Given the description of an element on the screen output the (x, y) to click on. 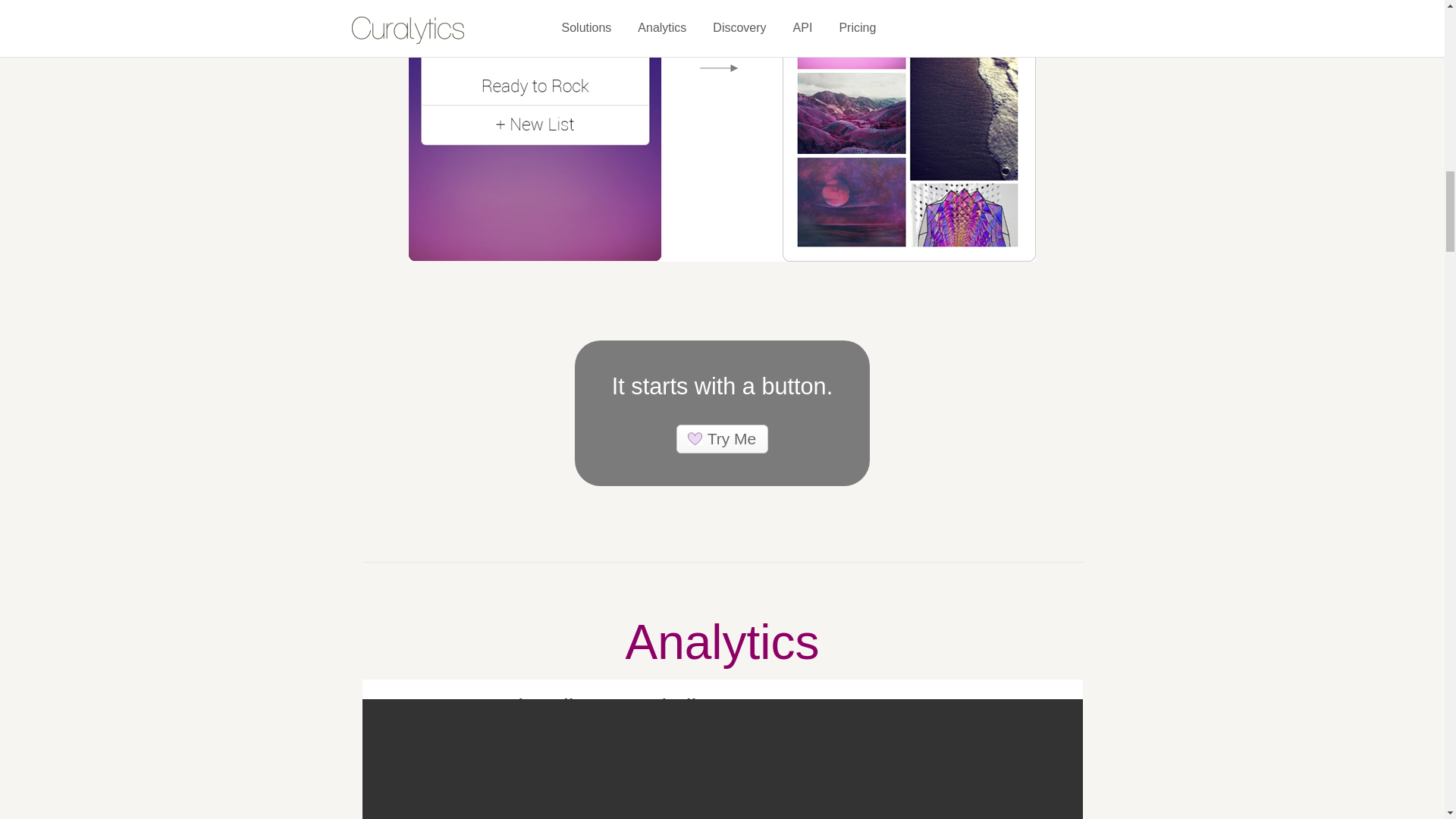
Try Me (722, 439)
